Given the description of an element on the screen output the (x, y) to click on. 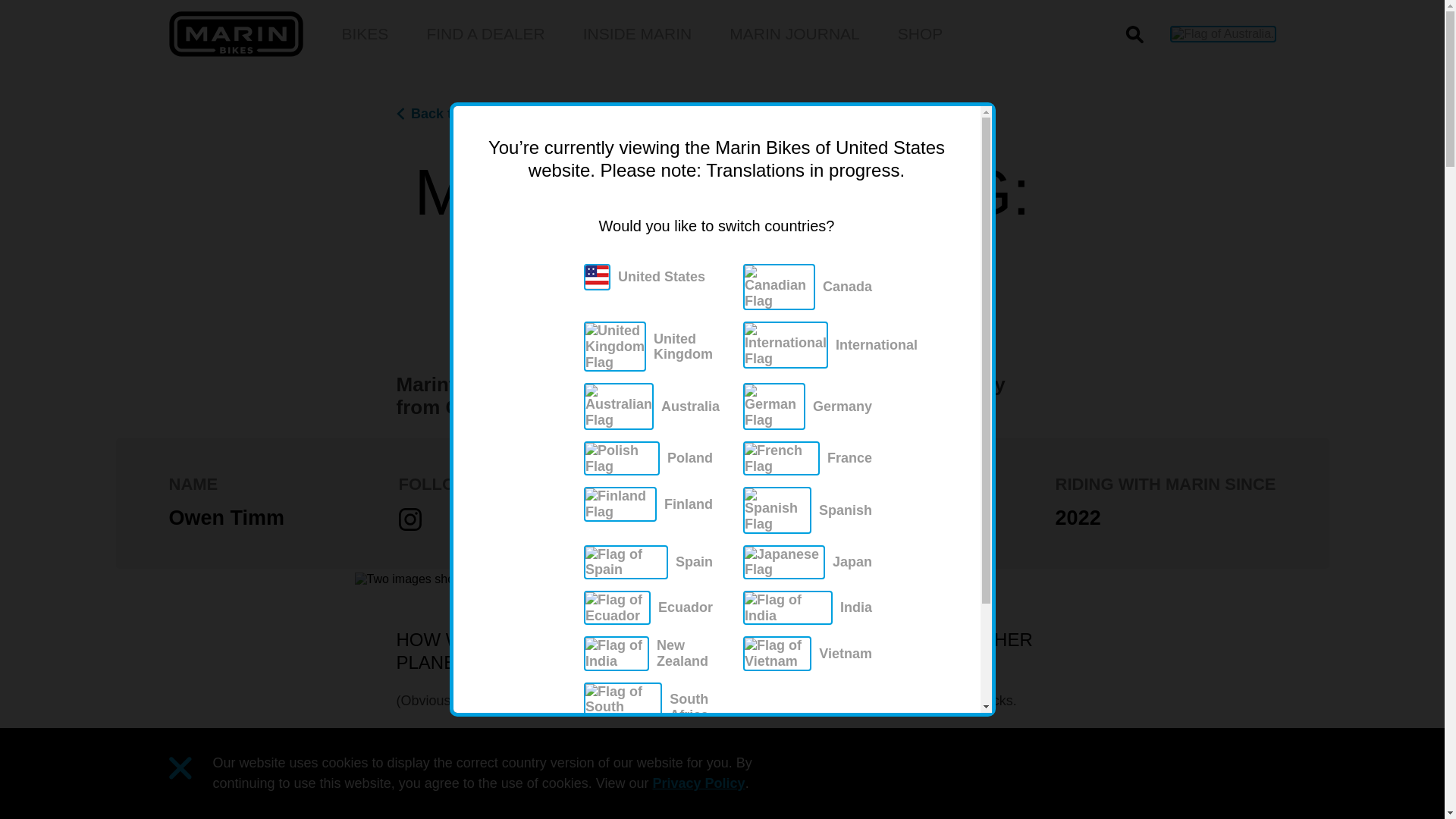
SHOP (920, 34)
Marin Bikes (235, 33)
BIKES (364, 34)
MARIN JOURNAL (713, 34)
INSIDE MARIN (794, 34)
FIND A DEALER (638, 34)
